Given the description of an element on the screen output the (x, y) to click on. 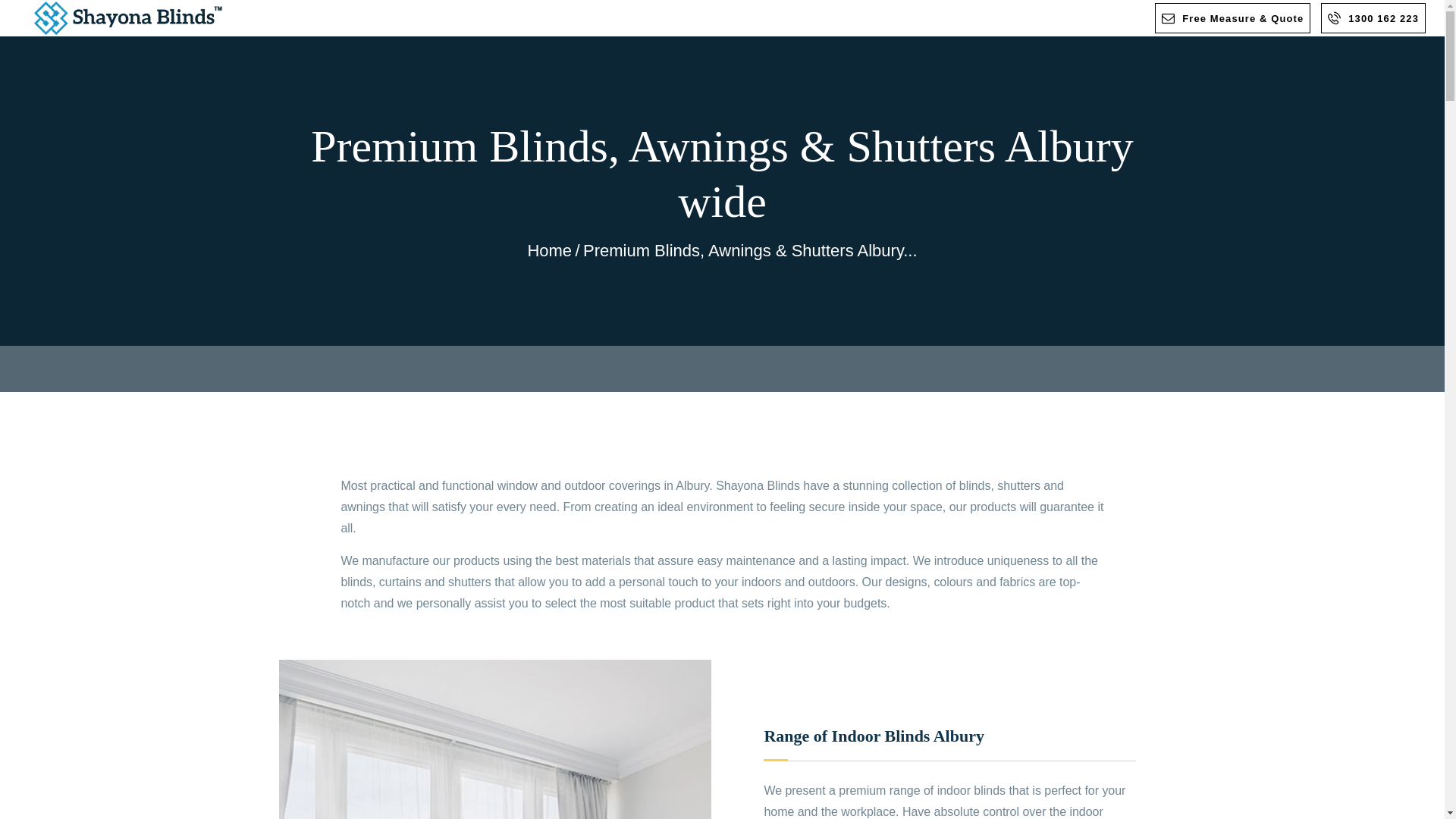
Home (549, 250)
1300 162 223 (1372, 17)
